Given the description of an element on the screen output the (x, y) to click on. 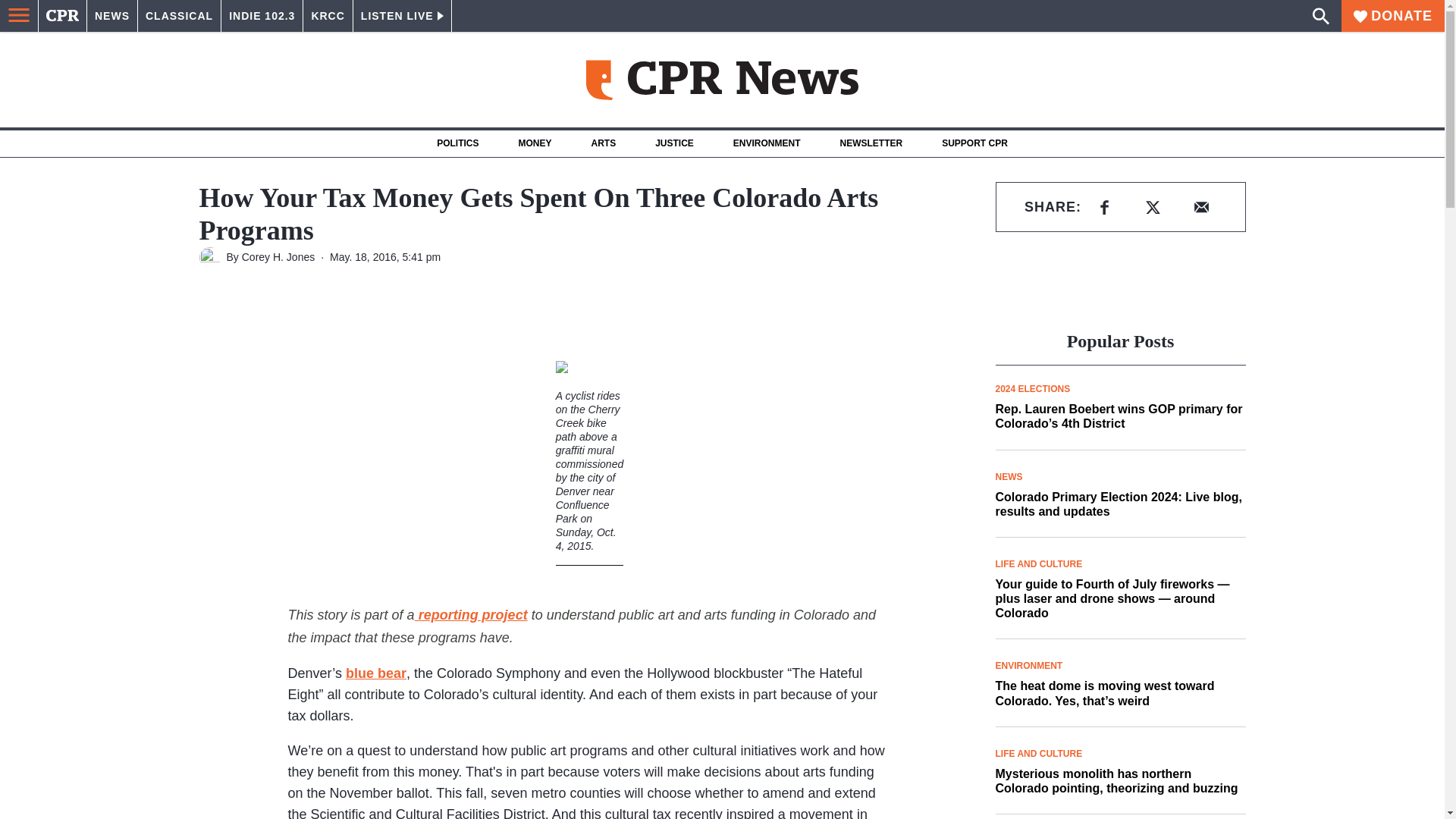
LISTEN LIVE (402, 15)
CLASSICAL (179, 15)
KRCC (327, 15)
INDIE 102.3 (261, 15)
NEWS (111, 15)
